Given the description of an element on the screen output the (x, y) to click on. 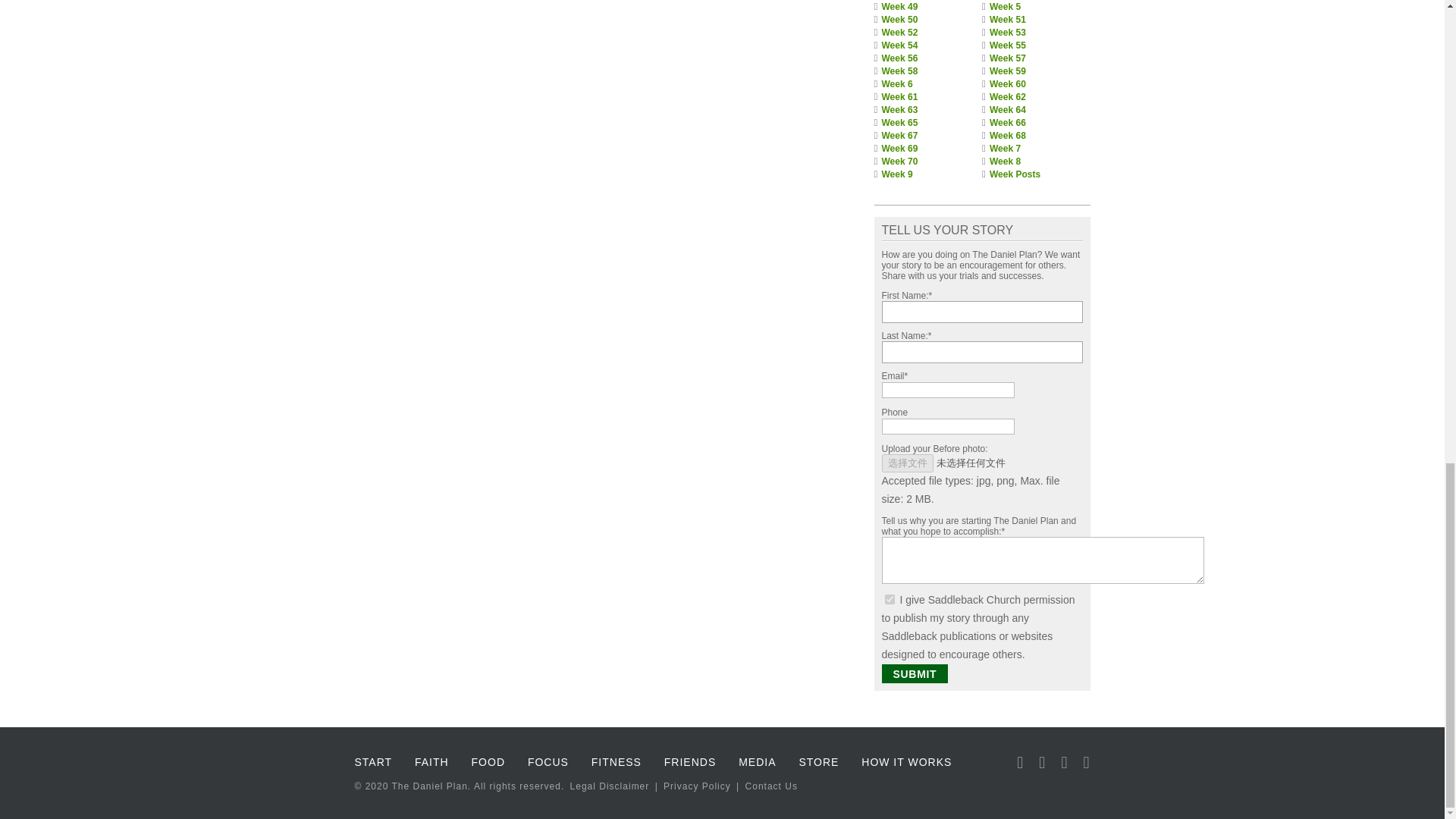
Submit (913, 673)
